Given the description of an element on the screen output the (x, y) to click on. 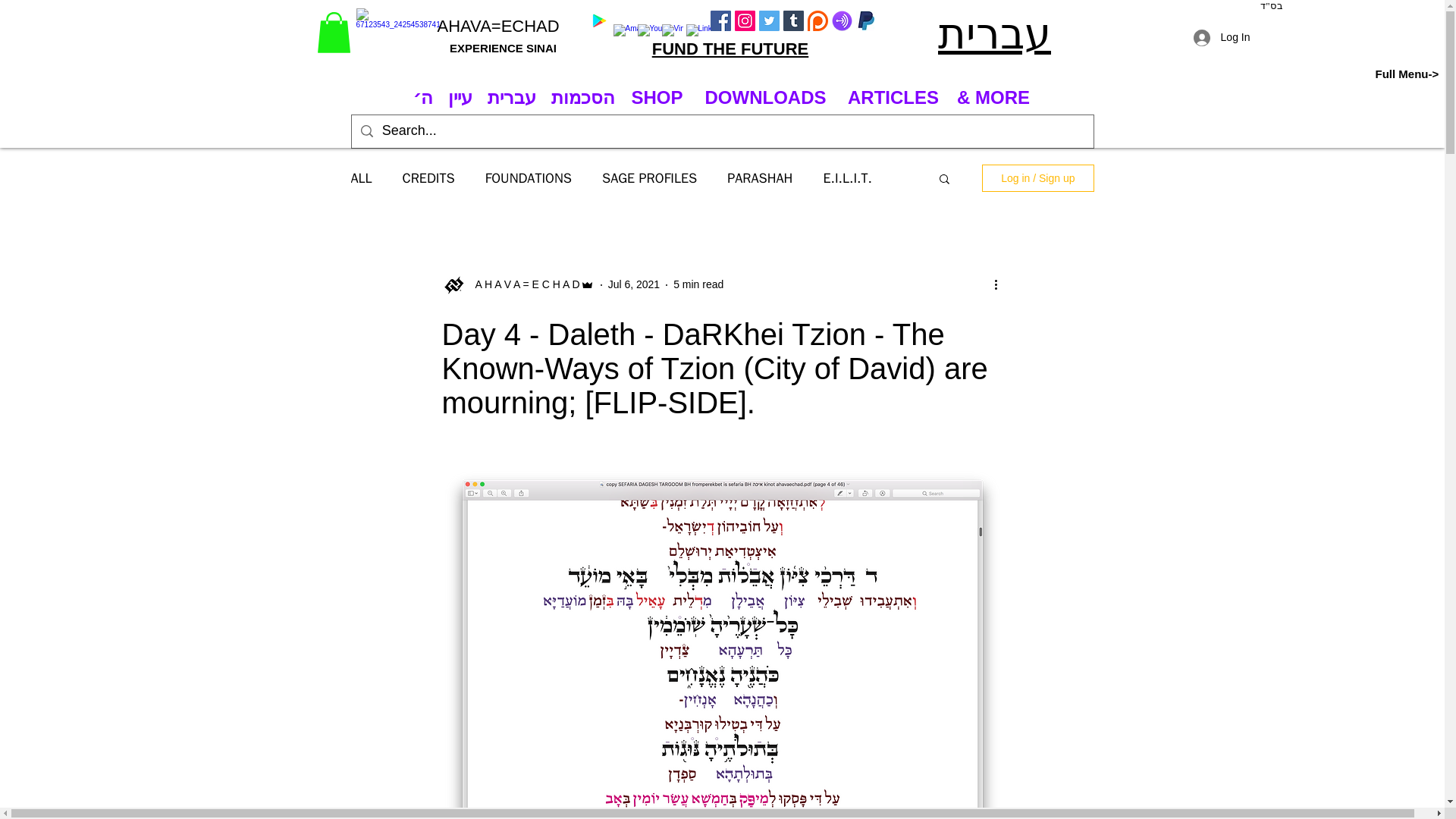
SHOP (656, 97)
ARTICLES (892, 97)
EXPERIENCE SINAI (502, 47)
5 min read (697, 284)
FUND THE FUTURE (730, 48)
Log In (1221, 37)
Jul 6, 2021 (634, 284)
DOWNLOADS (764, 97)
